Given the description of an element on the screen output the (x, y) to click on. 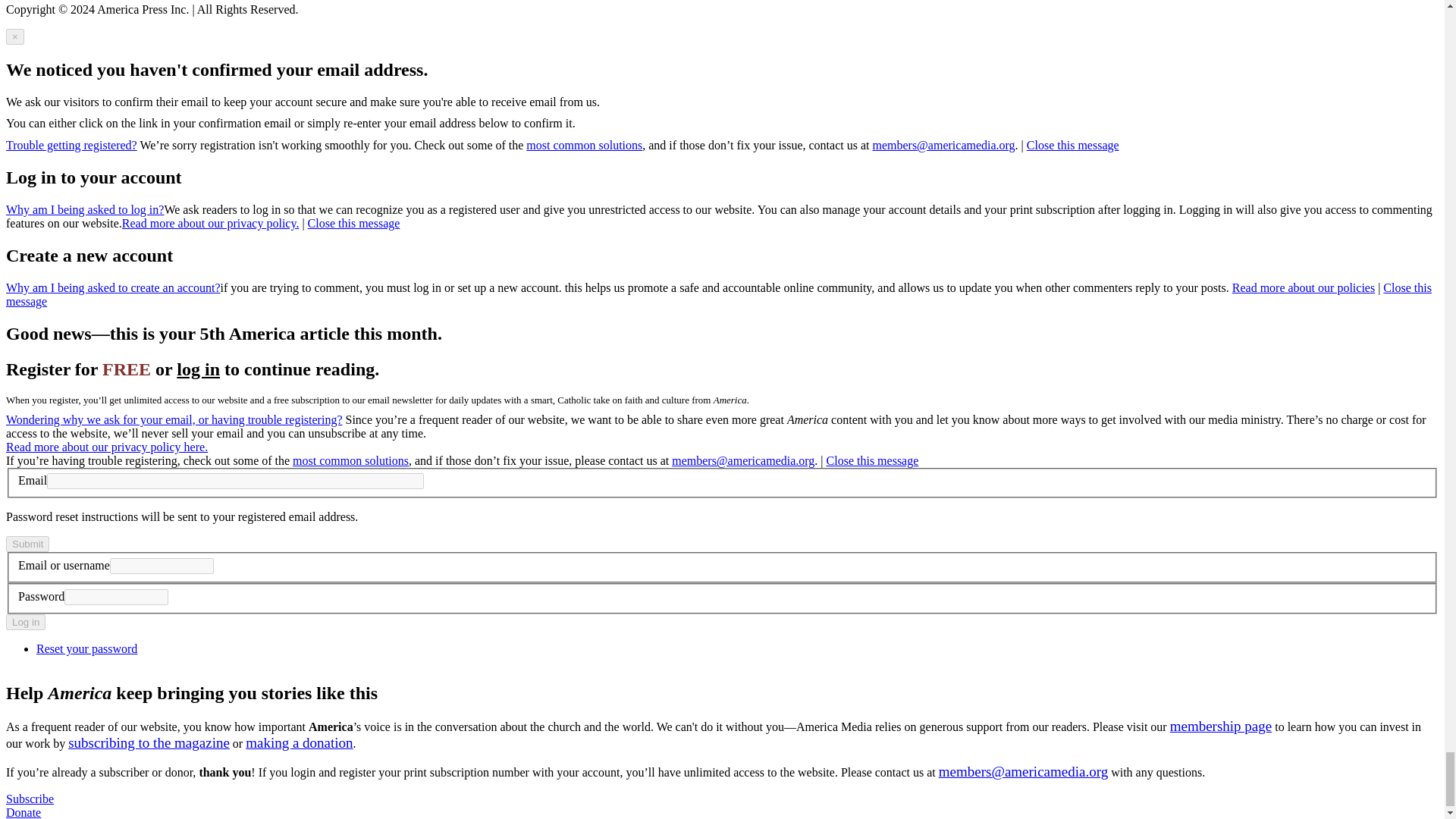
Send password reset instructions via email. (86, 648)
